Given the description of an element on the screen output the (x, y) to click on. 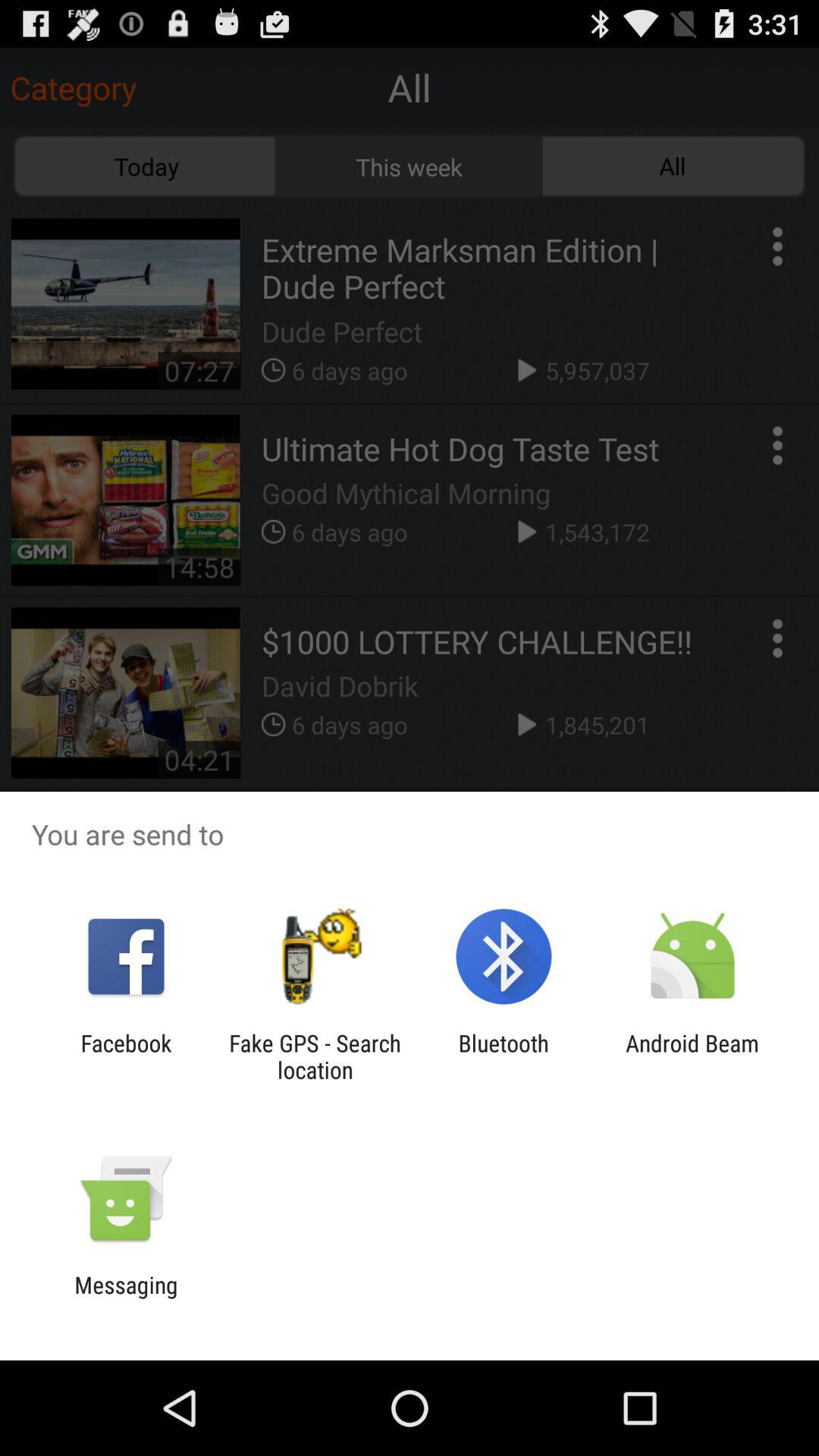
choose icon at the bottom right corner (692, 1056)
